Given the description of an element on the screen output the (x, y) to click on. 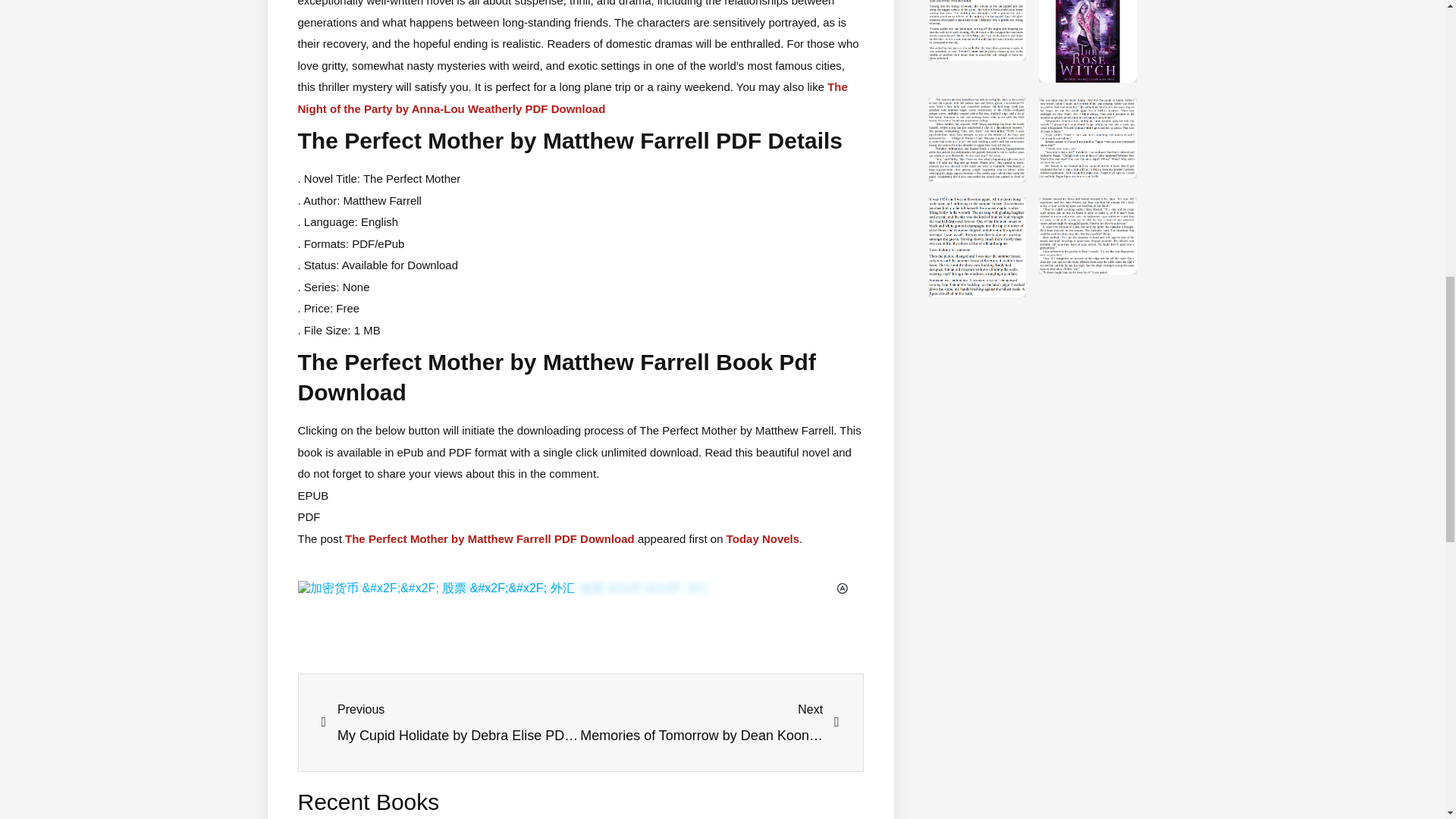
The Perfect Mother by Matthew Farrell PDF Download (450, 722)
Today Novels (489, 538)
The Night of the Party by Anna-Lou Weatherly PDF Download (709, 722)
